Given the description of an element on the screen output the (x, y) to click on. 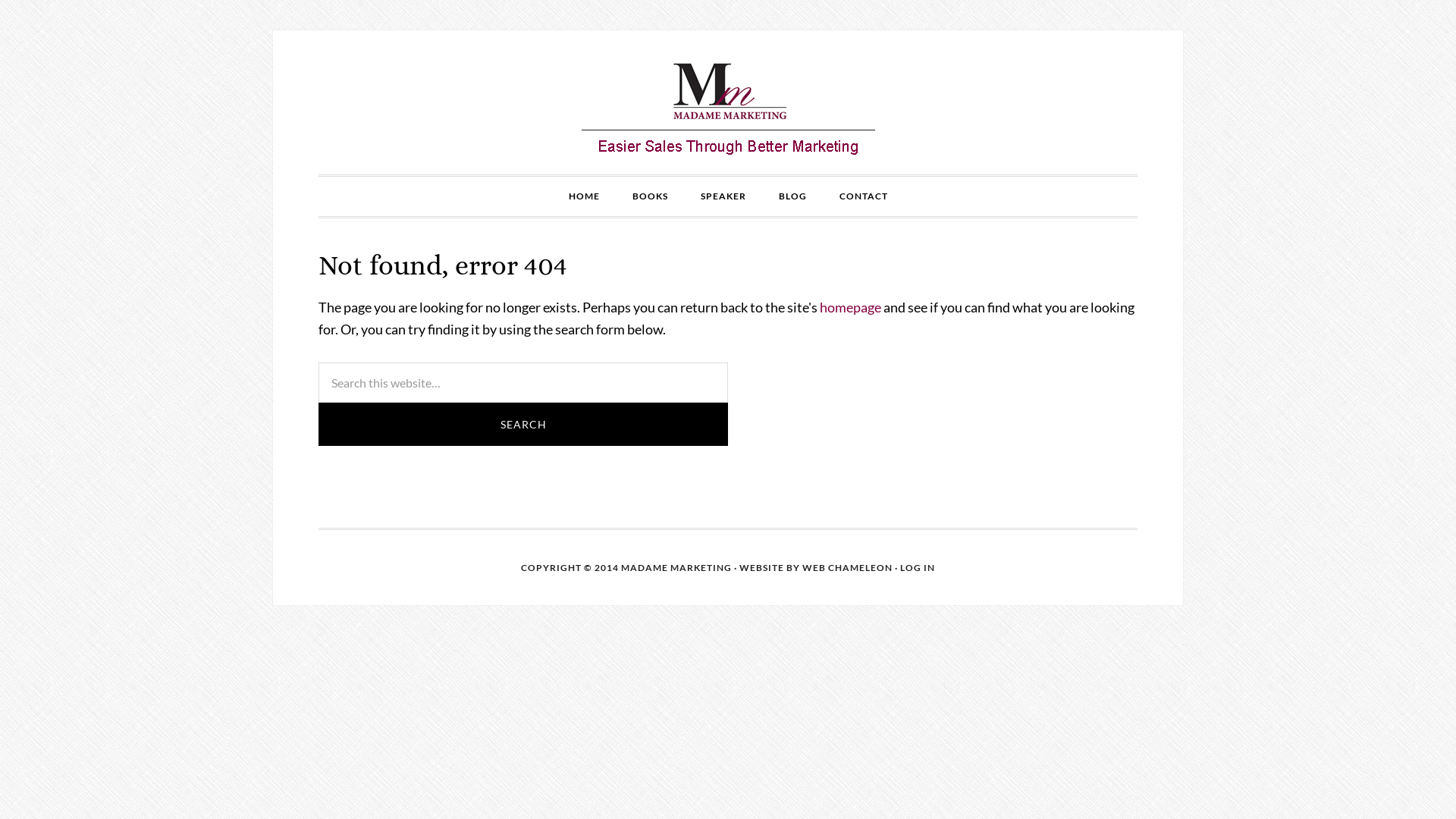
homepage Element type: text (850, 306)
WEB CHAMELEON Element type: text (847, 567)
BLOG Element type: text (791, 196)
MADAME MARKETING Element type: text (727, 102)
BOOKS Element type: text (650, 196)
LOG IN Element type: text (917, 567)
HOME Element type: text (584, 196)
Search Element type: text (523, 423)
CONTACT Element type: text (862, 196)
SPEAKER Element type: text (723, 196)
